Given the description of an element on the screen output the (x, y) to click on. 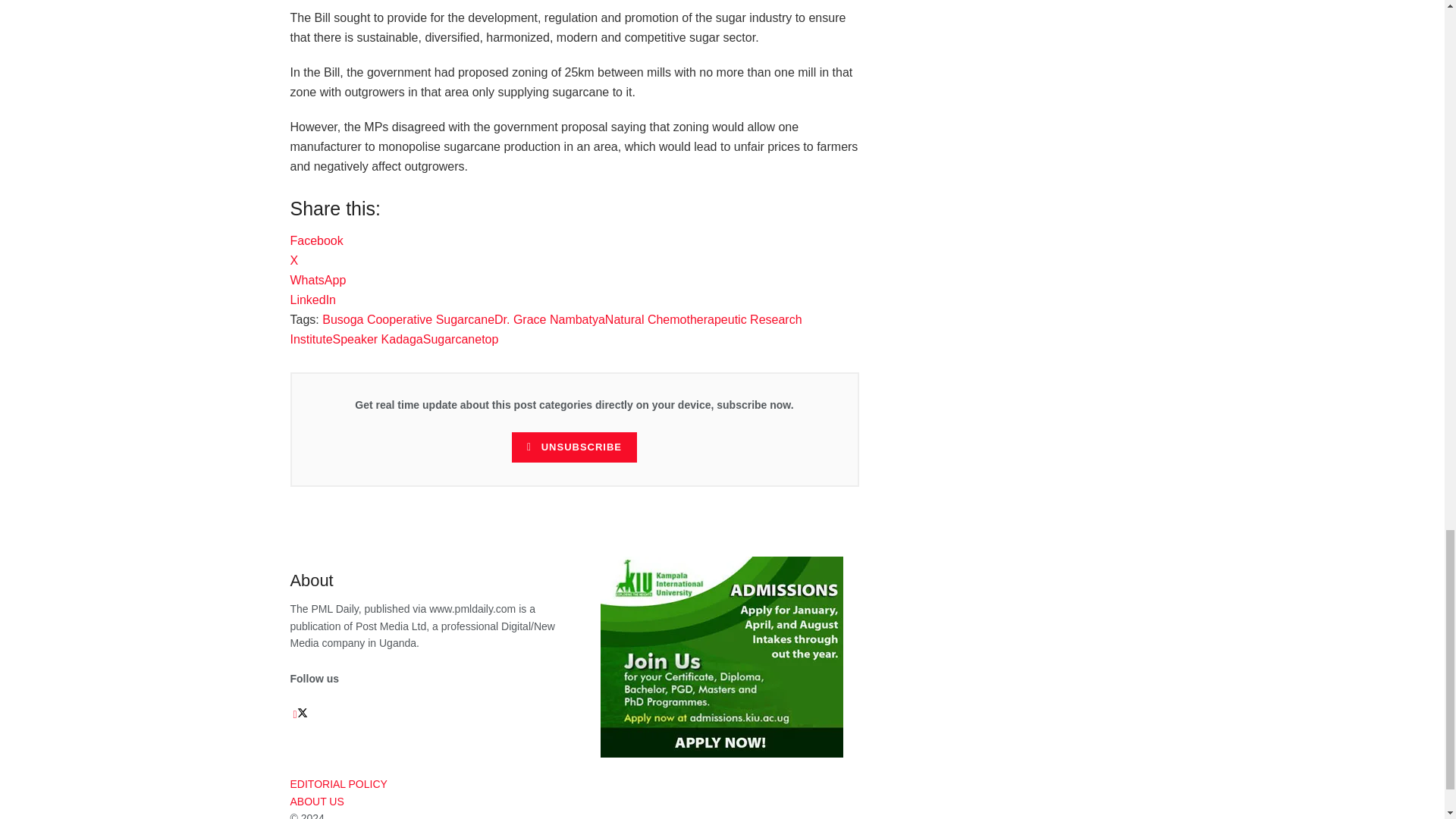
Click to share on WhatsApp (317, 279)
Click to share on LinkedIn (312, 299)
Click to share on Facebook (315, 240)
